Given the description of an element on the screen output the (x, y) to click on. 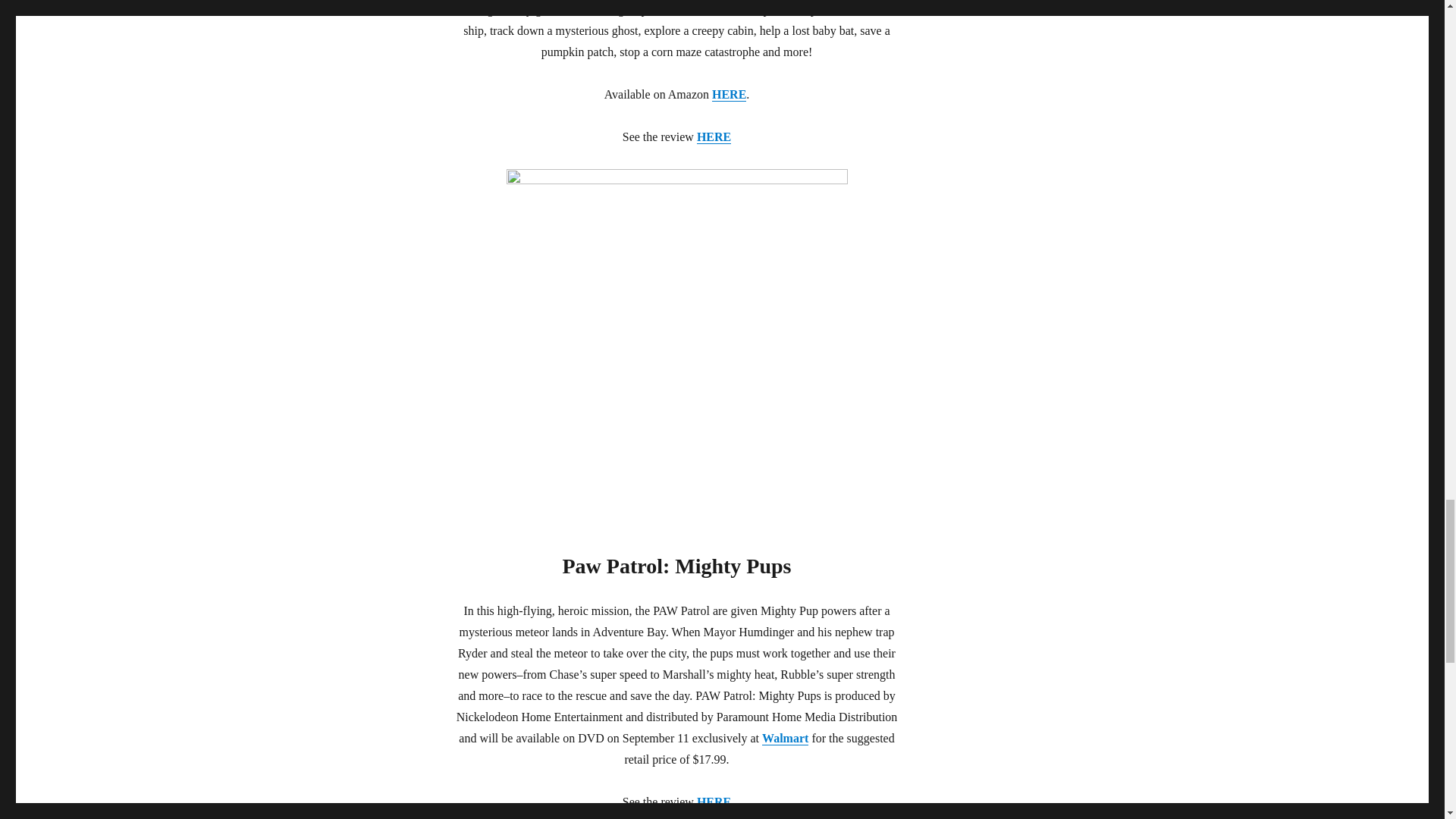
HERE (713, 136)
HERE (713, 801)
Walmart (784, 738)
HERE (728, 93)
